Given the description of an element on the screen output the (x, y) to click on. 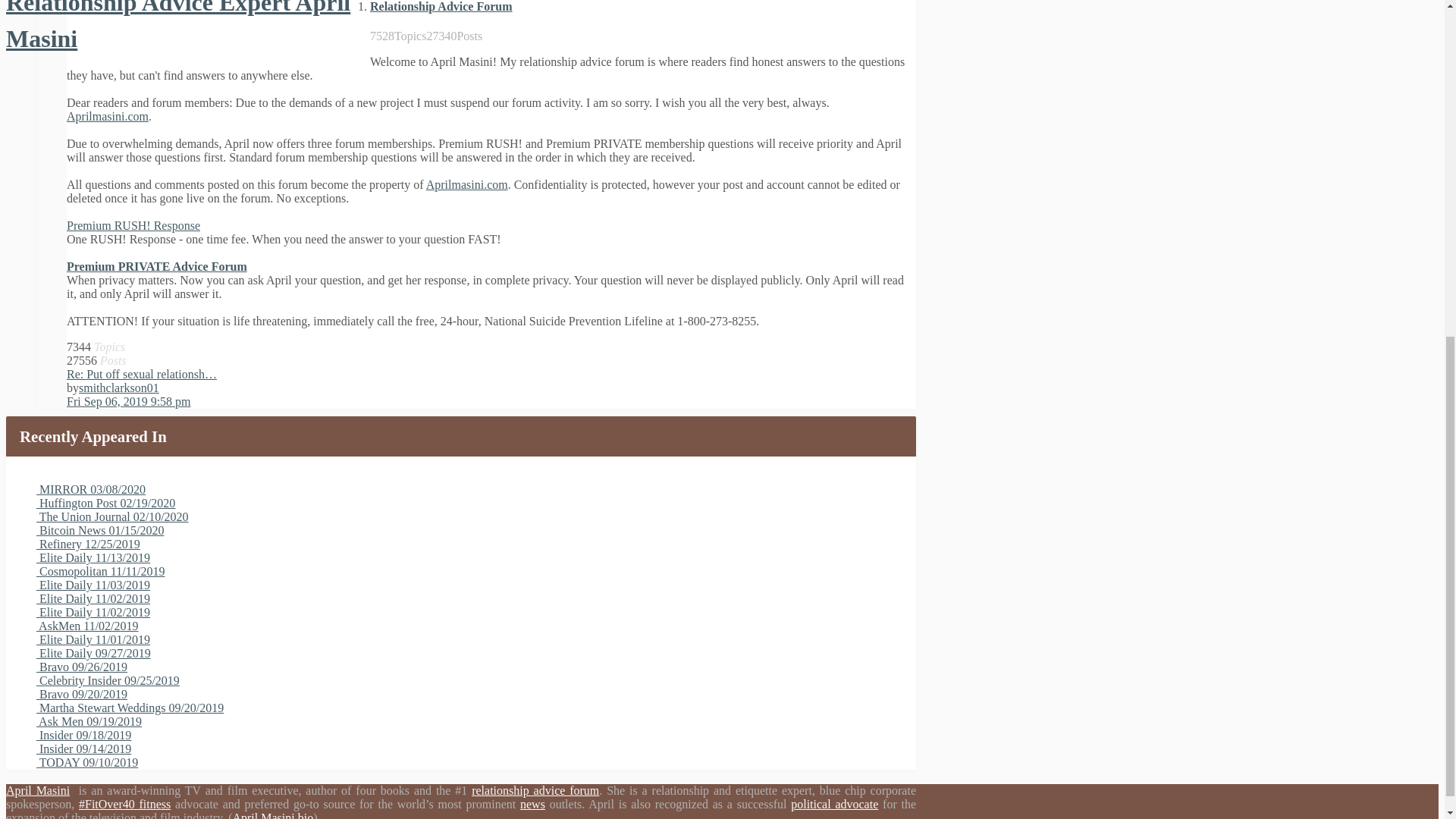
Go to last post (128, 400)
Relationship Advice Expert April Masini (177, 26)
Premium PRIVATE Advice Forum (156, 266)
Premium RUSH! Response (133, 225)
View forum (440, 6)
Relationship Advice Forum (440, 6)
Aprilmasini.com (107, 115)
Fri Sep 06, 2019 9:58 pm (128, 400)
Re: Put off sexual relationships (141, 373)
Aprilmasini.com (467, 184)
smithclarkson01 (118, 387)
